Given the description of an element on the screen output the (x, y) to click on. 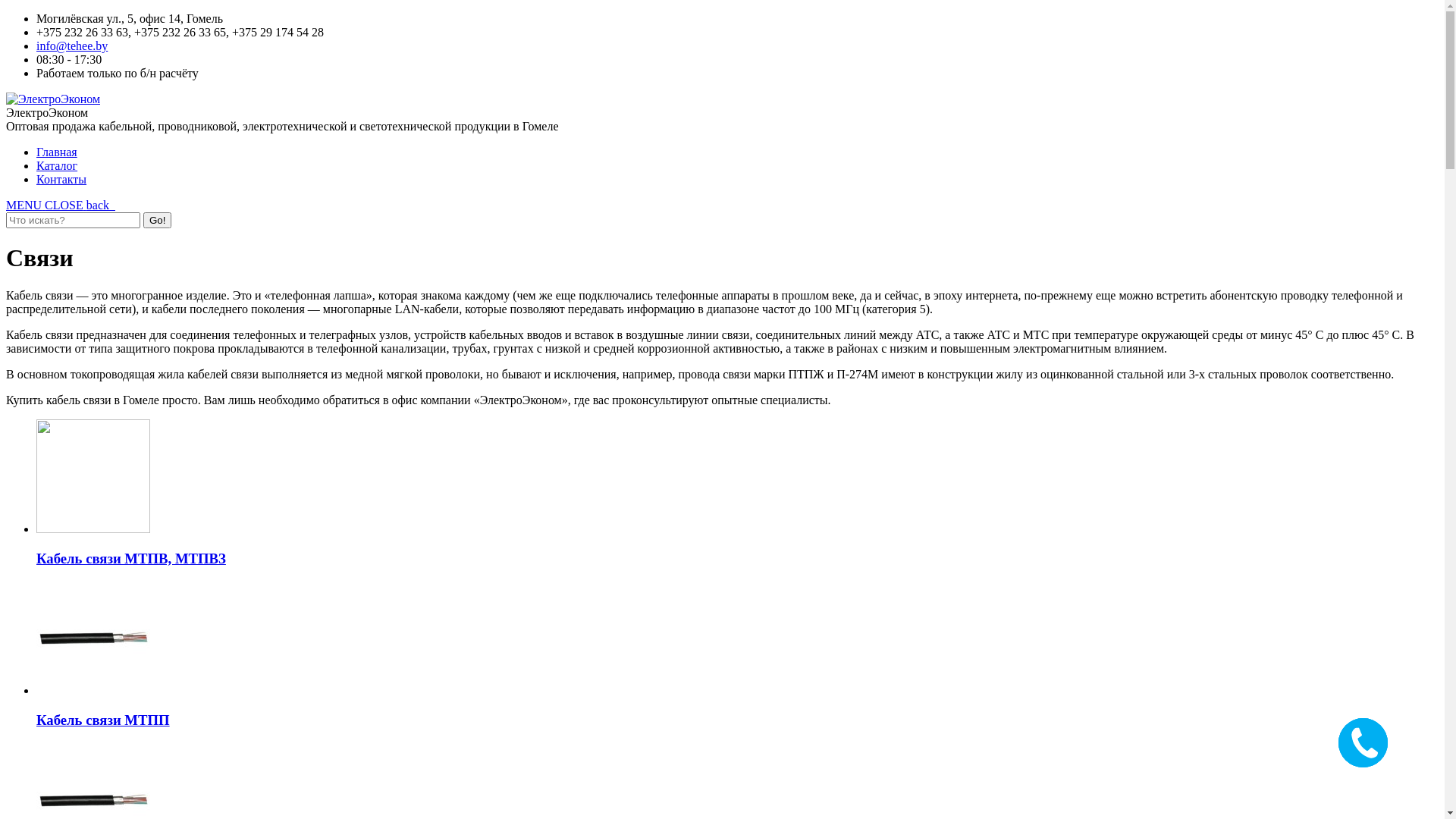
Go! Element type: text (157, 220)
MENU CLOSE back   Element type: text (60, 204)
info@tehee.by Element type: text (71, 45)
